Given the description of an element on the screen output the (x, y) to click on. 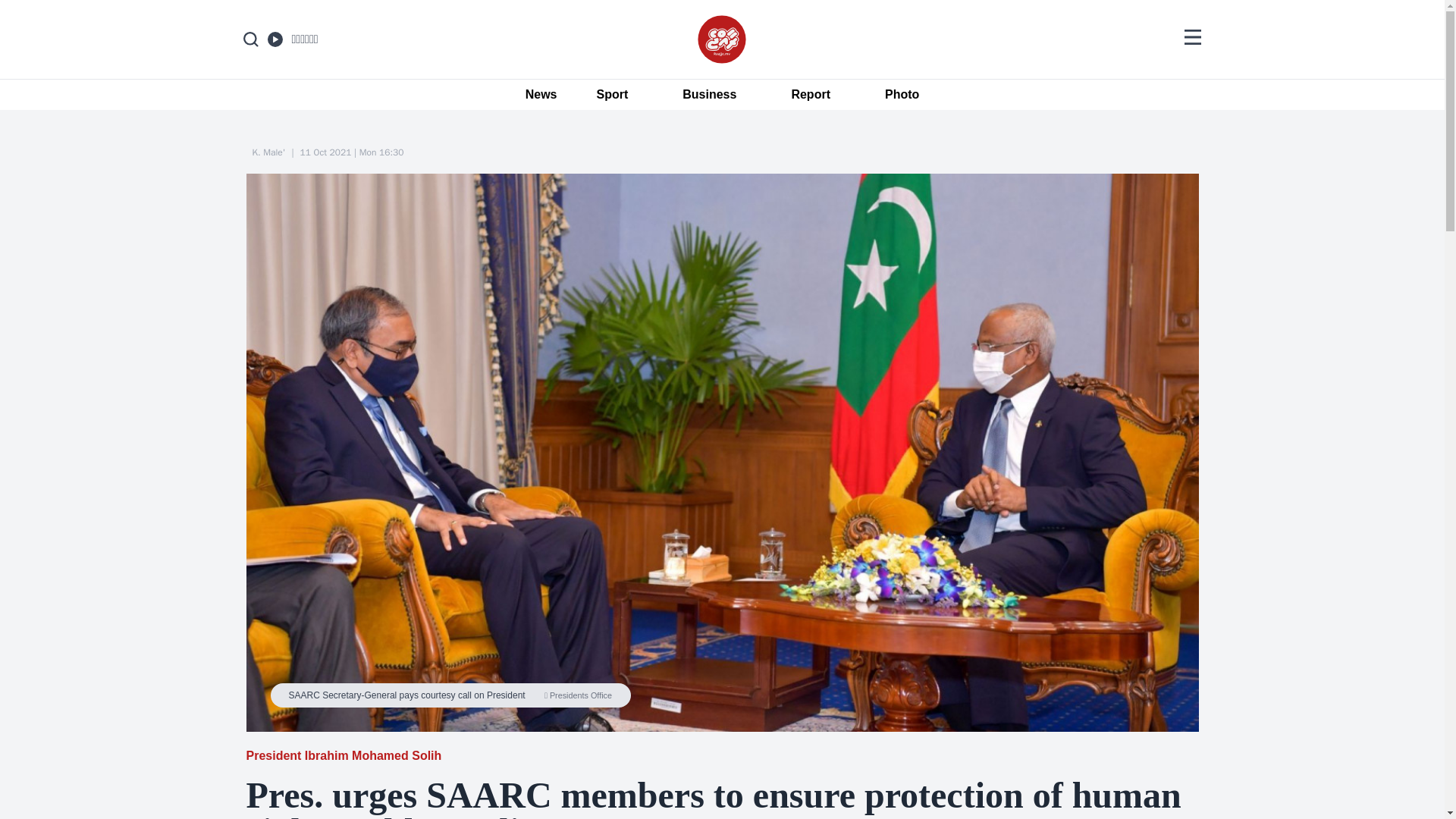
Report (810, 94)
Sport (611, 94)
News (534, 94)
Business (708, 94)
Photo (901, 94)
